Given the description of an element on the screen output the (x, y) to click on. 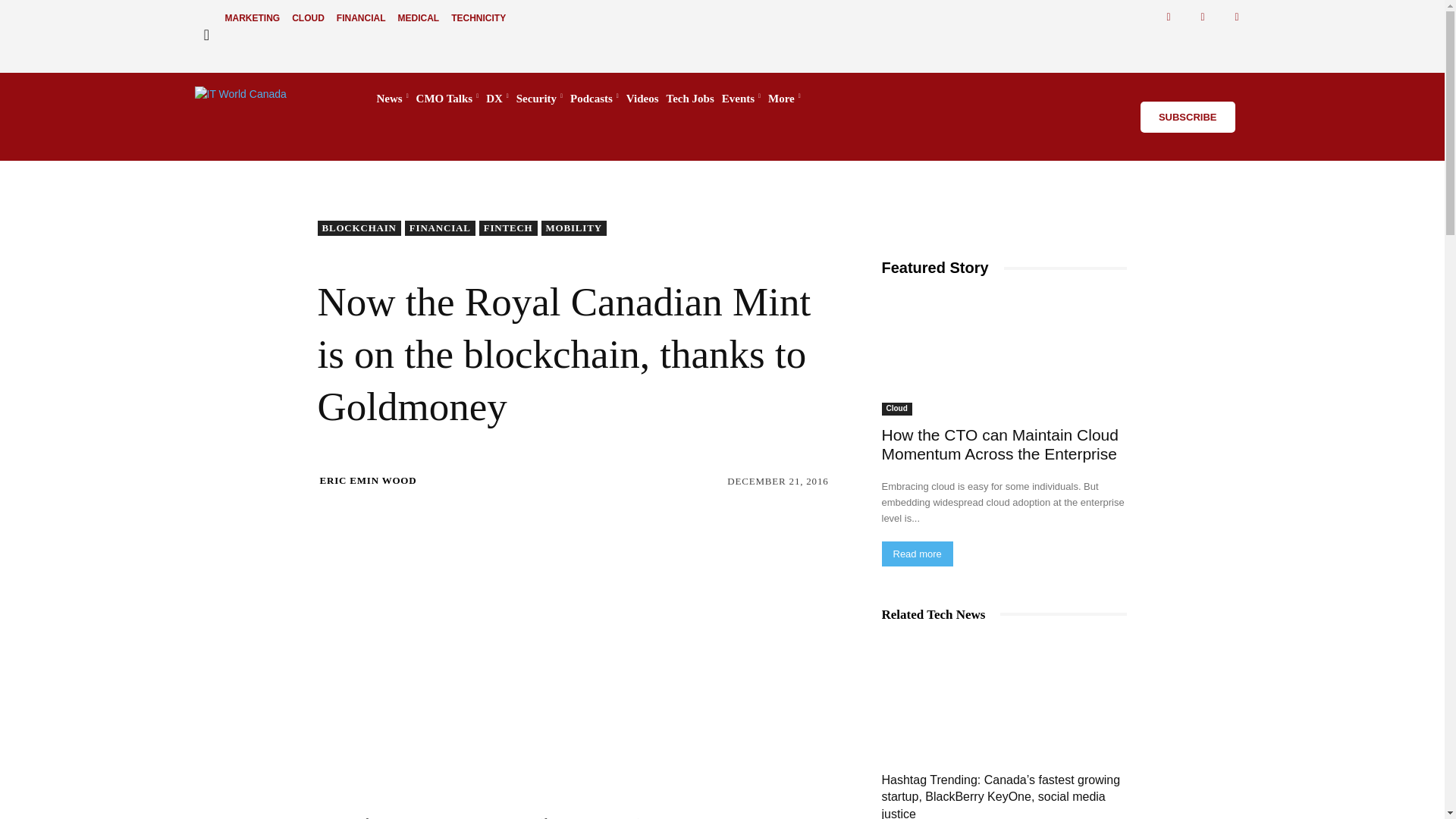
TECHNICITY (478, 18)
FINANCIAL (360, 18)
Twitter (1202, 17)
Rss (1237, 17)
CLOUD (307, 18)
MARKETING (251, 18)
Facebook (1169, 17)
IT World Canada - IT News (269, 98)
MEDICAL (418, 18)
